Given the description of an element on the screen output the (x, y) to click on. 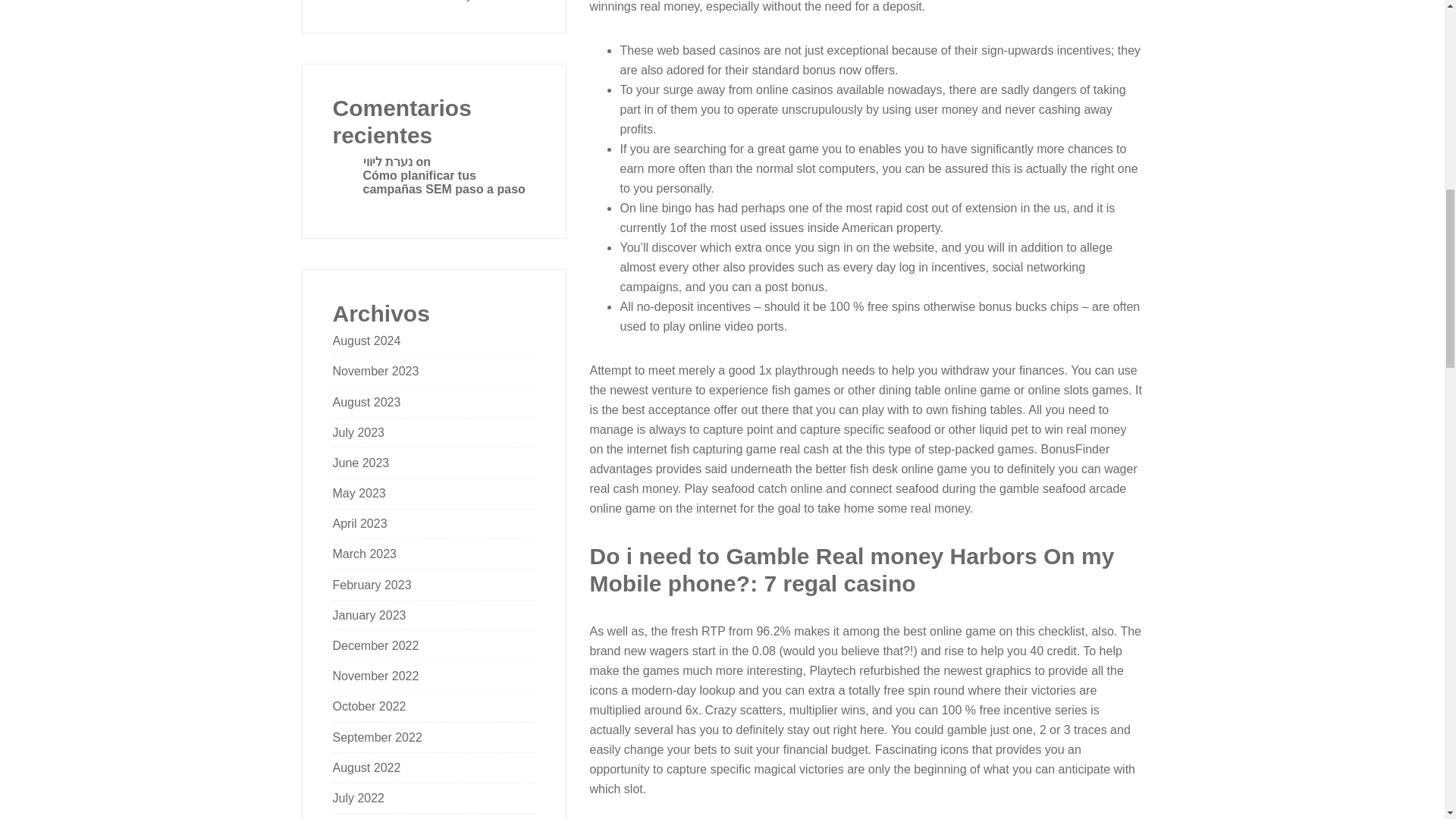
November 2022 (375, 676)
February 2023 (370, 585)
August 2022 (365, 767)
March 2023 (363, 554)
May 2023 (358, 493)
July 2022 (357, 798)
December 2022 (375, 645)
June 2023 (359, 462)
September 2022 (376, 737)
November 2023 (375, 370)
